Given the description of an element on the screen output the (x, y) to click on. 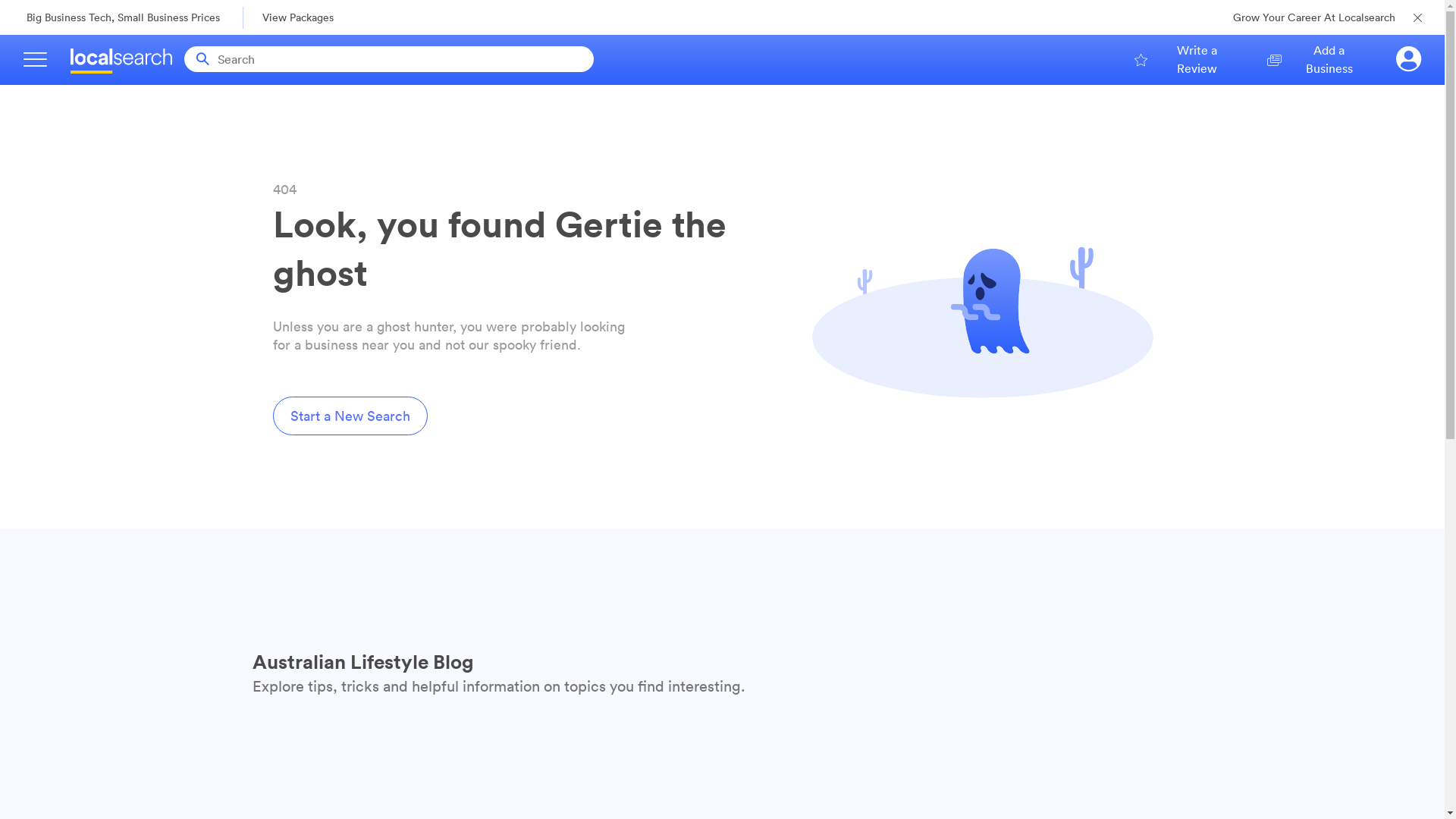
Big Business Tech, Small Business Prices Element type: text (122, 17)
Grow Your Career At Localsearch Element type: text (1314, 17)
Add a Business Element type: text (1316, 58)
View Packages Element type: text (312, 17)
Write a Review Element type: text (1185, 58)
Start a New Search Element type: text (350, 414)
